Given the description of an element on the screen output the (x, y) to click on. 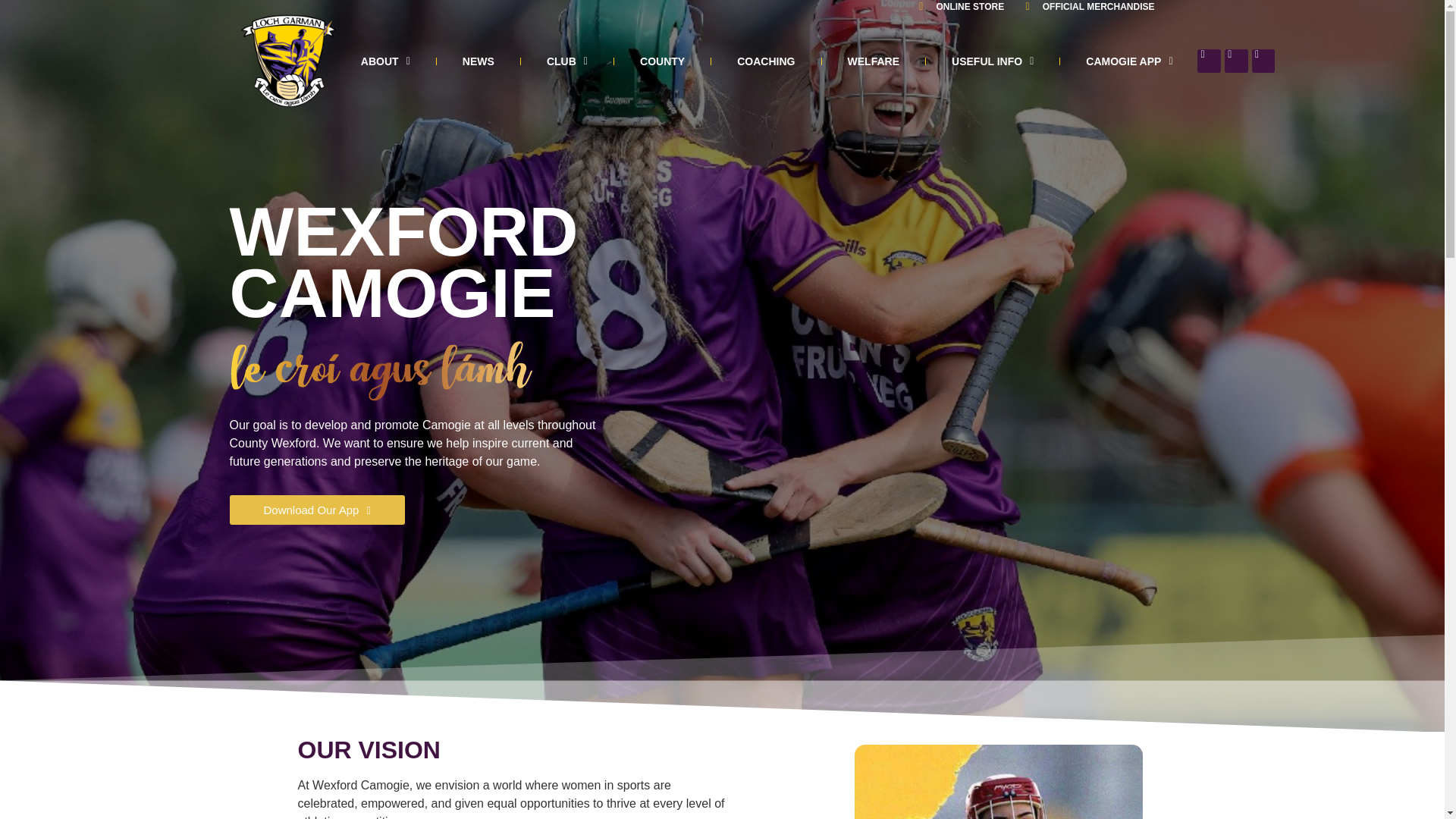
ONLINE STORE (957, 6)
OFFICIAL MERCHANDISE (1085, 6)
USEFUL INFO (992, 60)
CLUB (566, 60)
ABOUT (384, 60)
COACHING (766, 60)
COUNTY (661, 60)
CAMOGIE APP (1128, 60)
NEWS (478, 60)
WELFARE (873, 60)
